Given the description of an element on the screen output the (x, y) to click on. 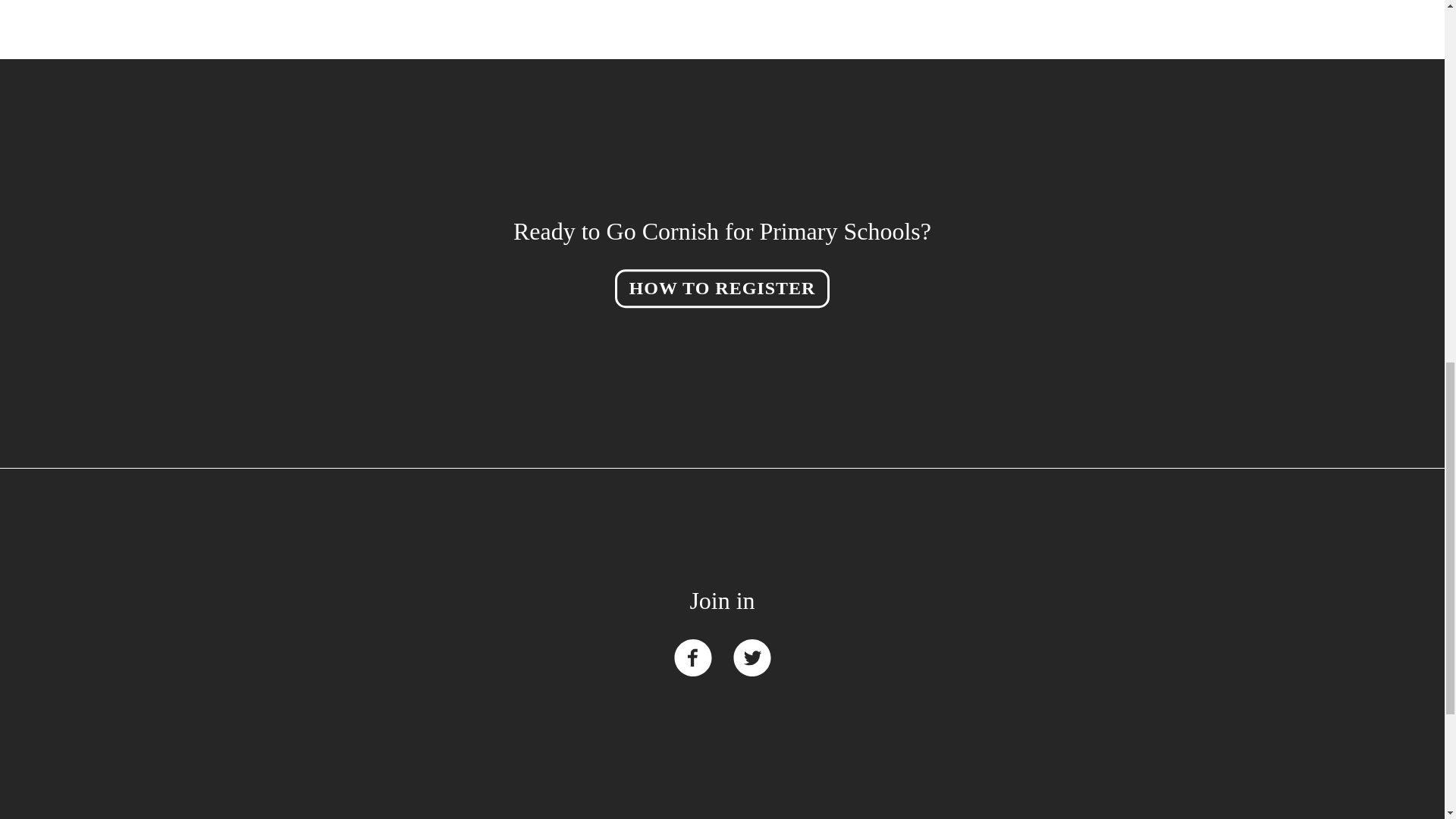
HOW TO REGISTER (721, 288)
Follow Go Cornish on Twitter (751, 657)
Follow Go Cornish on Facebook (691, 657)
